Given the description of an element on the screen output the (x, y) to click on. 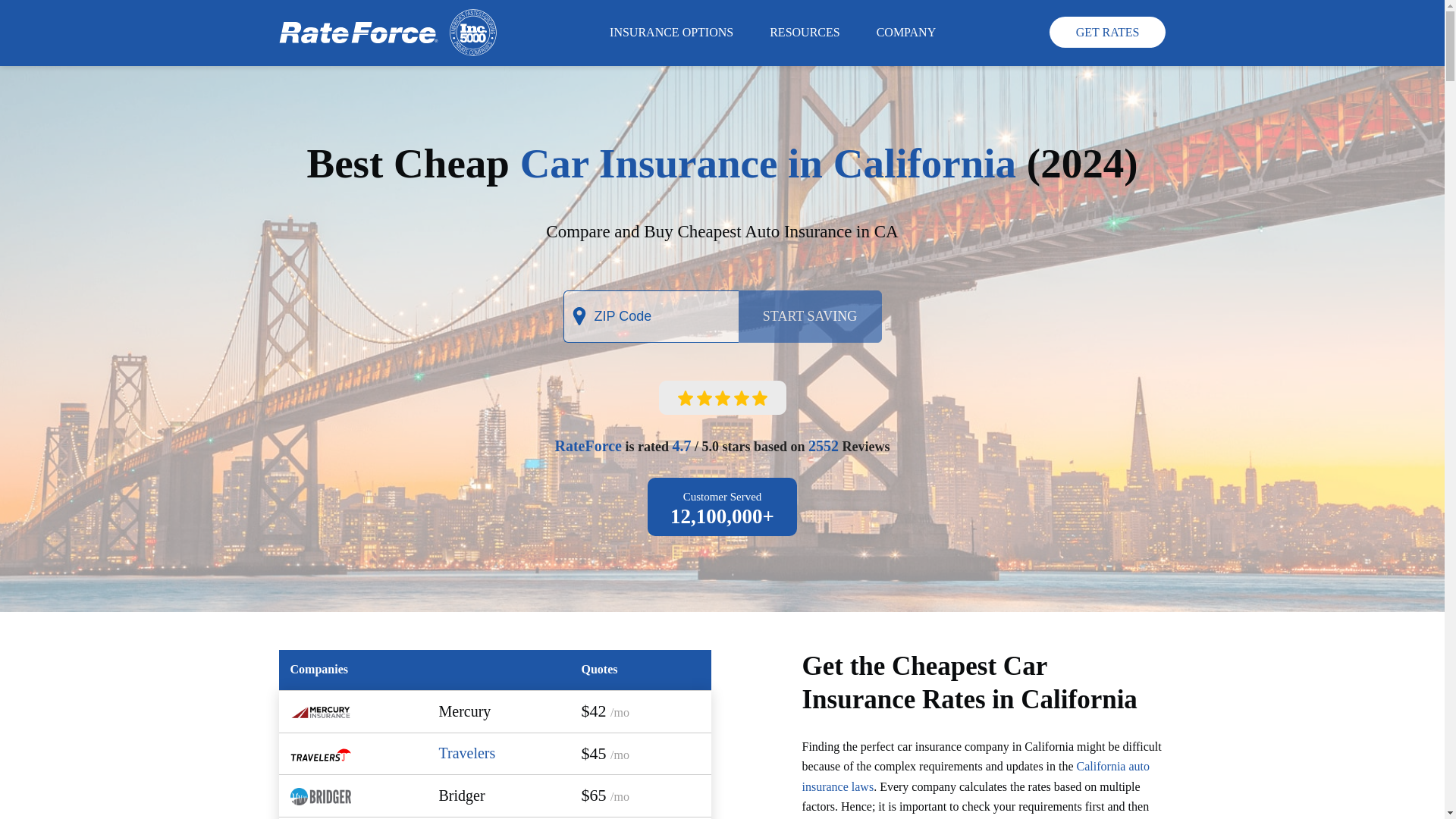
START SAVING (810, 316)
Travelers (466, 752)
INSURANCE OPTIONS (671, 33)
GET RATES (1107, 31)
COMPANY (907, 33)
California auto insurance laws (976, 776)
RESOURCES (804, 33)
